Given the description of an element on the screen output the (x, y) to click on. 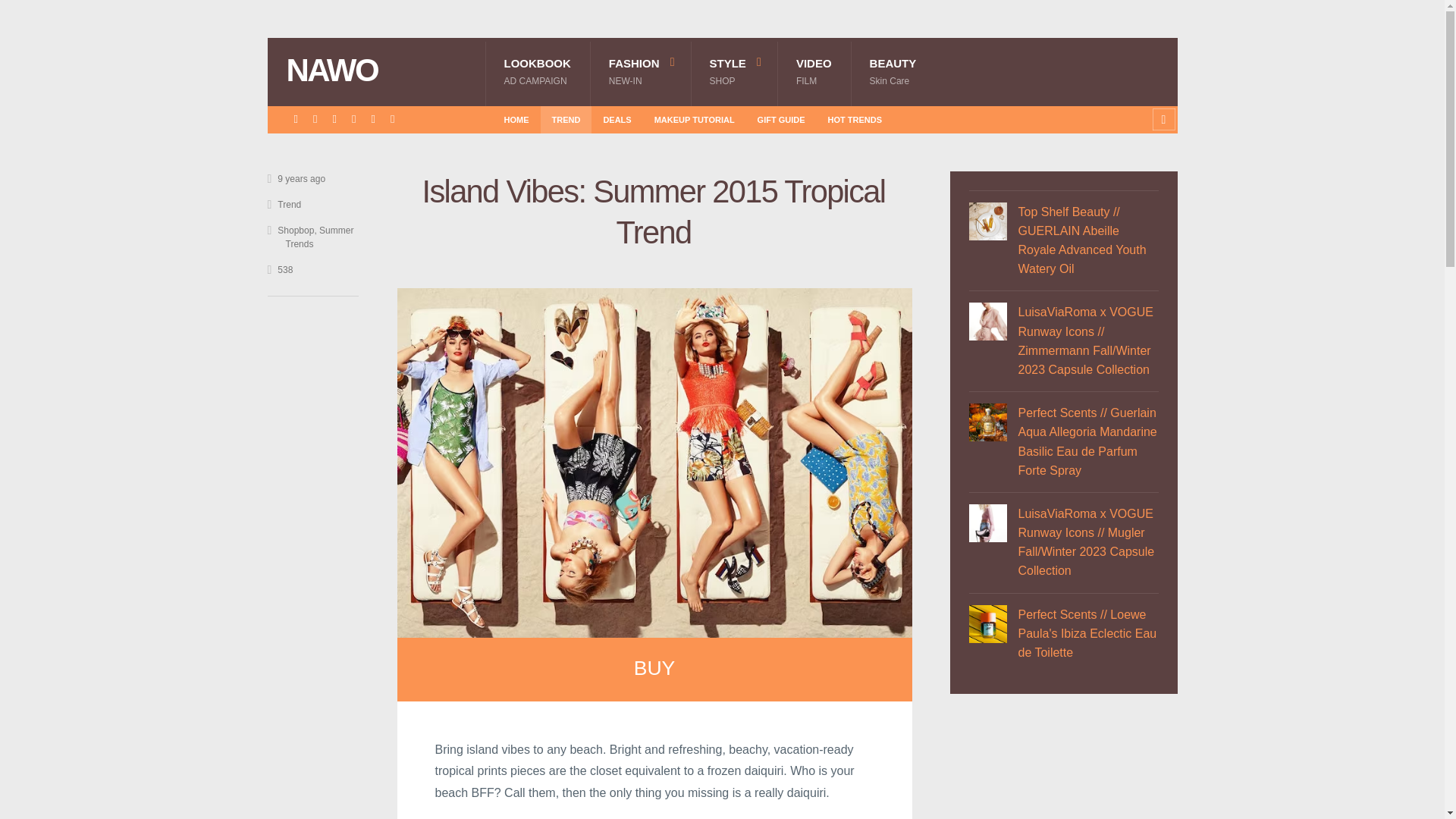
HOT TRENDS (854, 119)
DEALS (616, 119)
TREND (565, 119)
HOME (516, 119)
MAKEUP TUTORIAL (694, 119)
GIFT GUIDE (780, 119)
NAWO (733, 71)
BUY (536, 71)
